Given the description of an element on the screen output the (x, y) to click on. 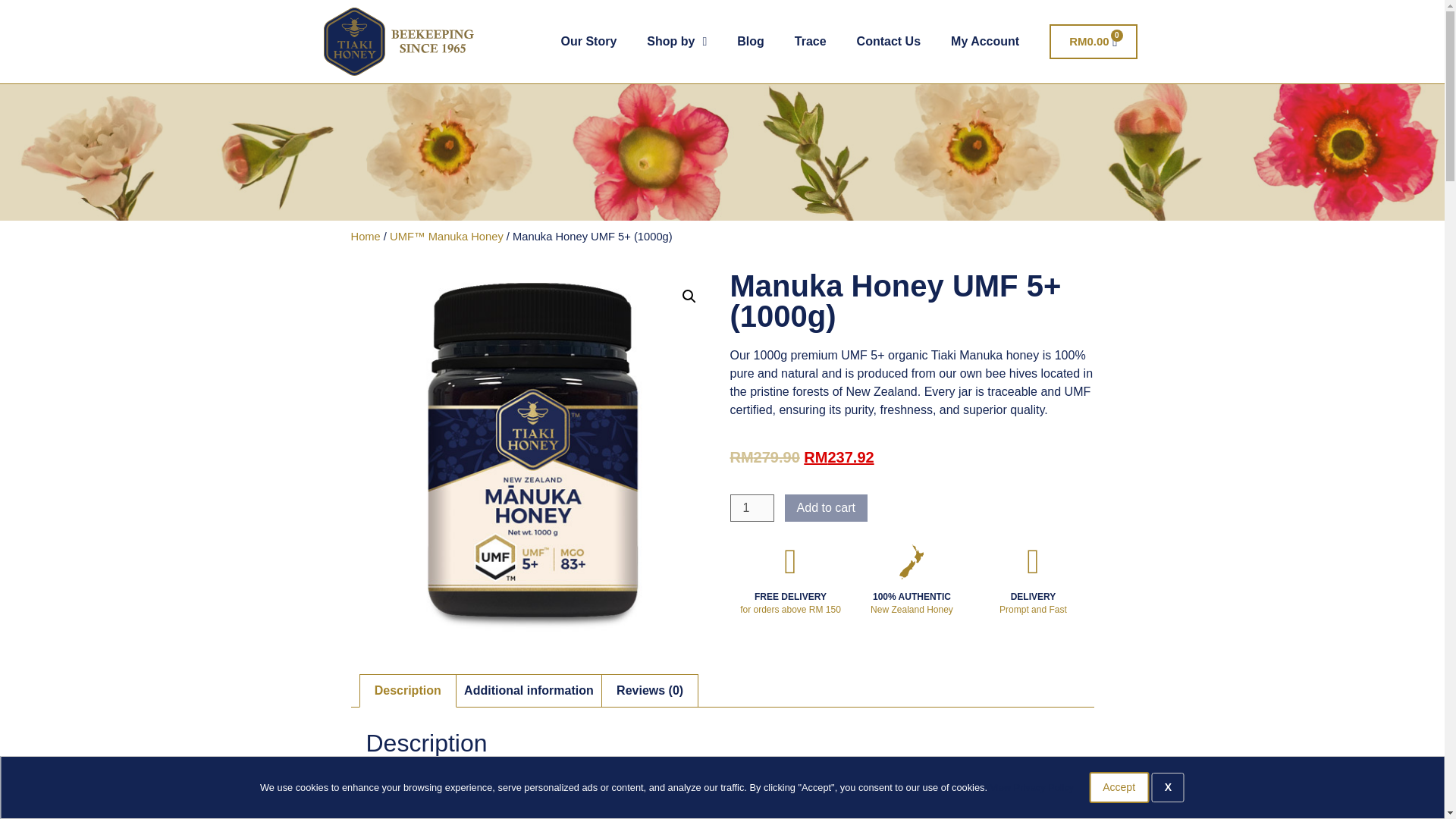
View Privacy Policy (1093, 41)
1 (1032, 787)
Accept (751, 507)
manuka-honey-1000-5-83 (1118, 787)
Trace (532, 452)
My Account (809, 41)
Contact Us (984, 41)
Shop by (888, 41)
Blog (676, 41)
Our Story (750, 41)
X (587, 41)
